Given the description of an element on the screen output the (x, y) to click on. 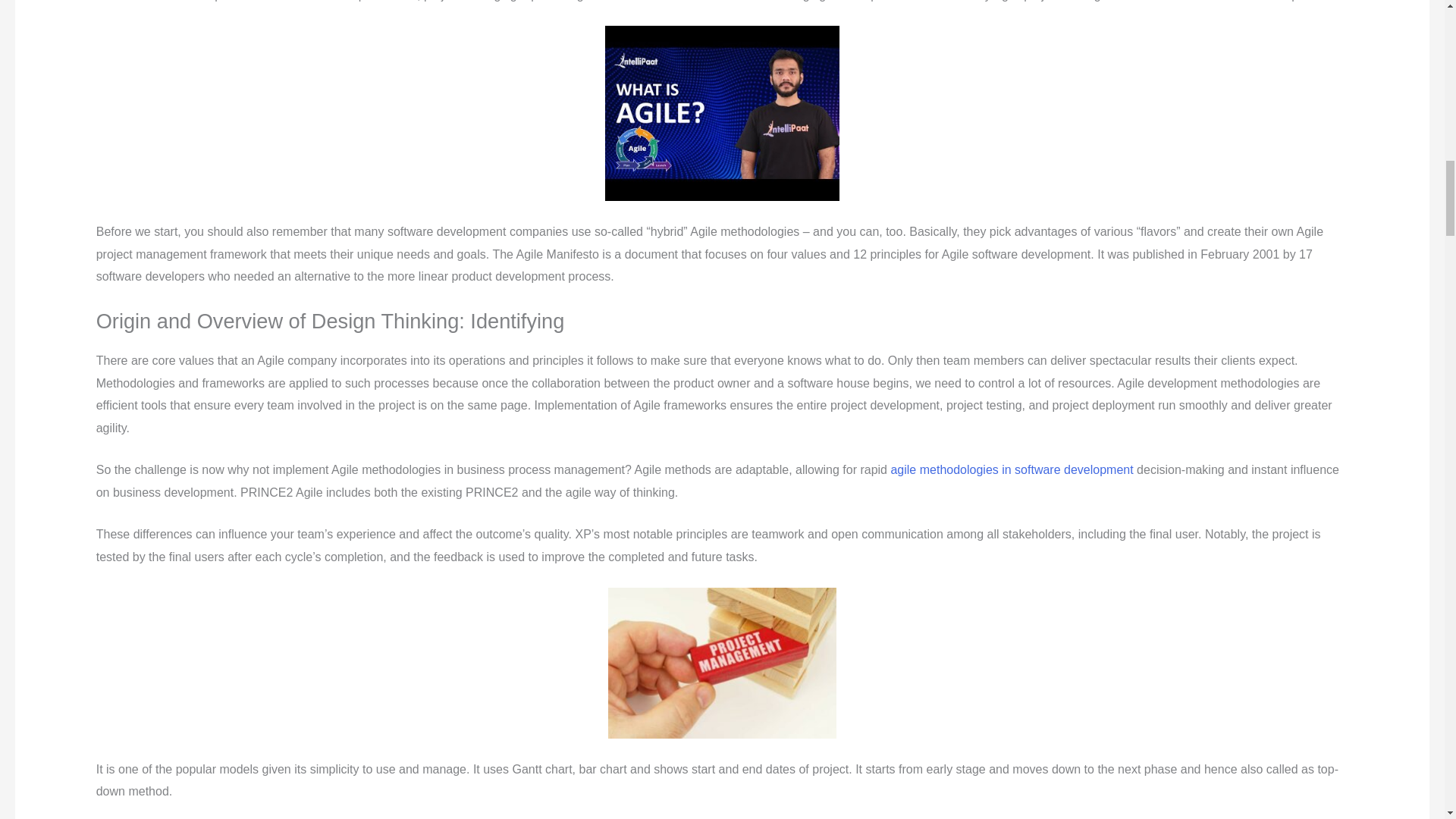
agile methodologies in software development (1010, 469)
